Given the description of an element on the screen output the (x, y) to click on. 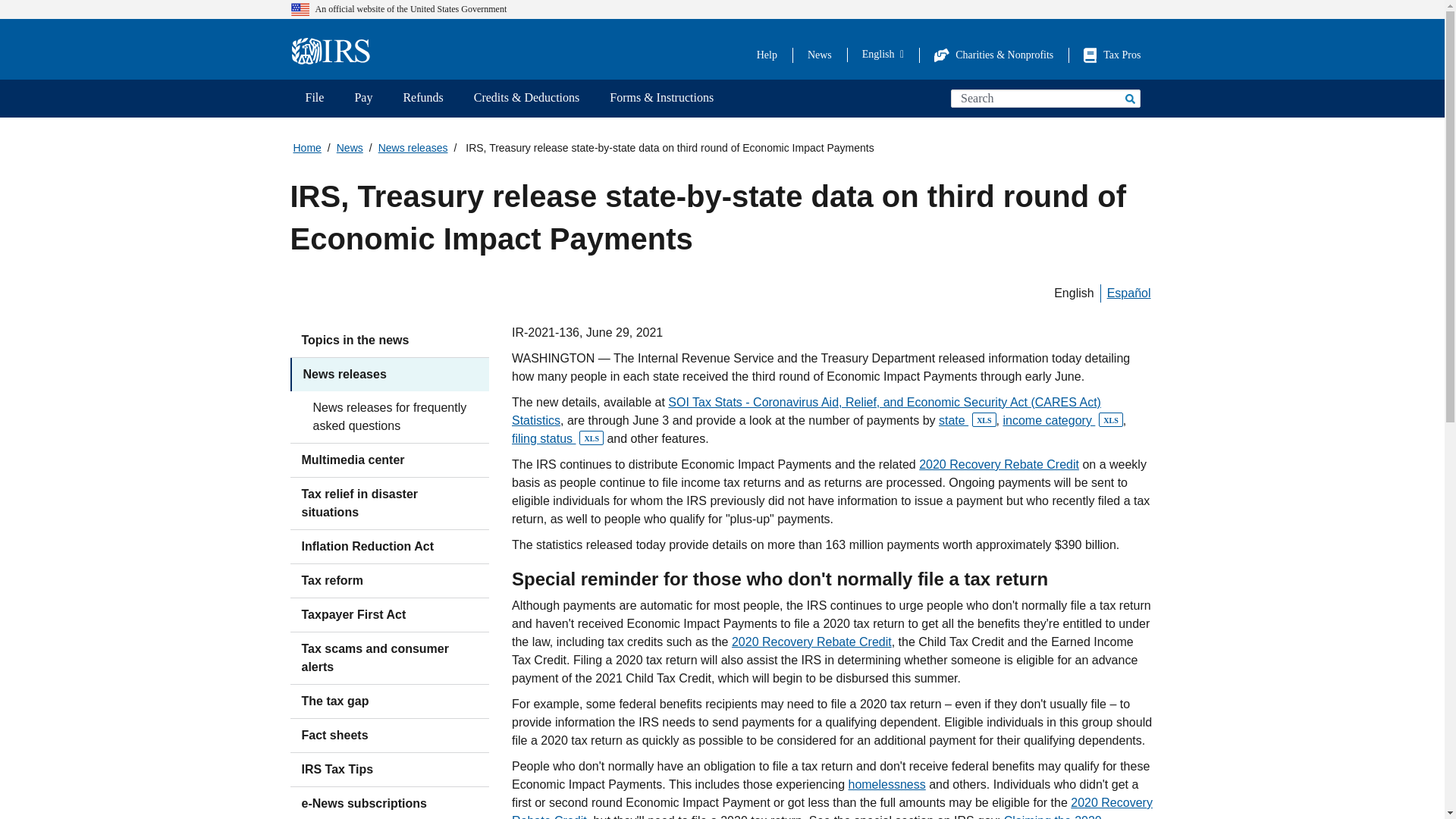
Pay (363, 98)
File (314, 98)
Home (335, 51)
Search (1129, 98)
Tax Pros (1111, 55)
English (882, 54)
